Given the description of an element on the screen output the (x, y) to click on. 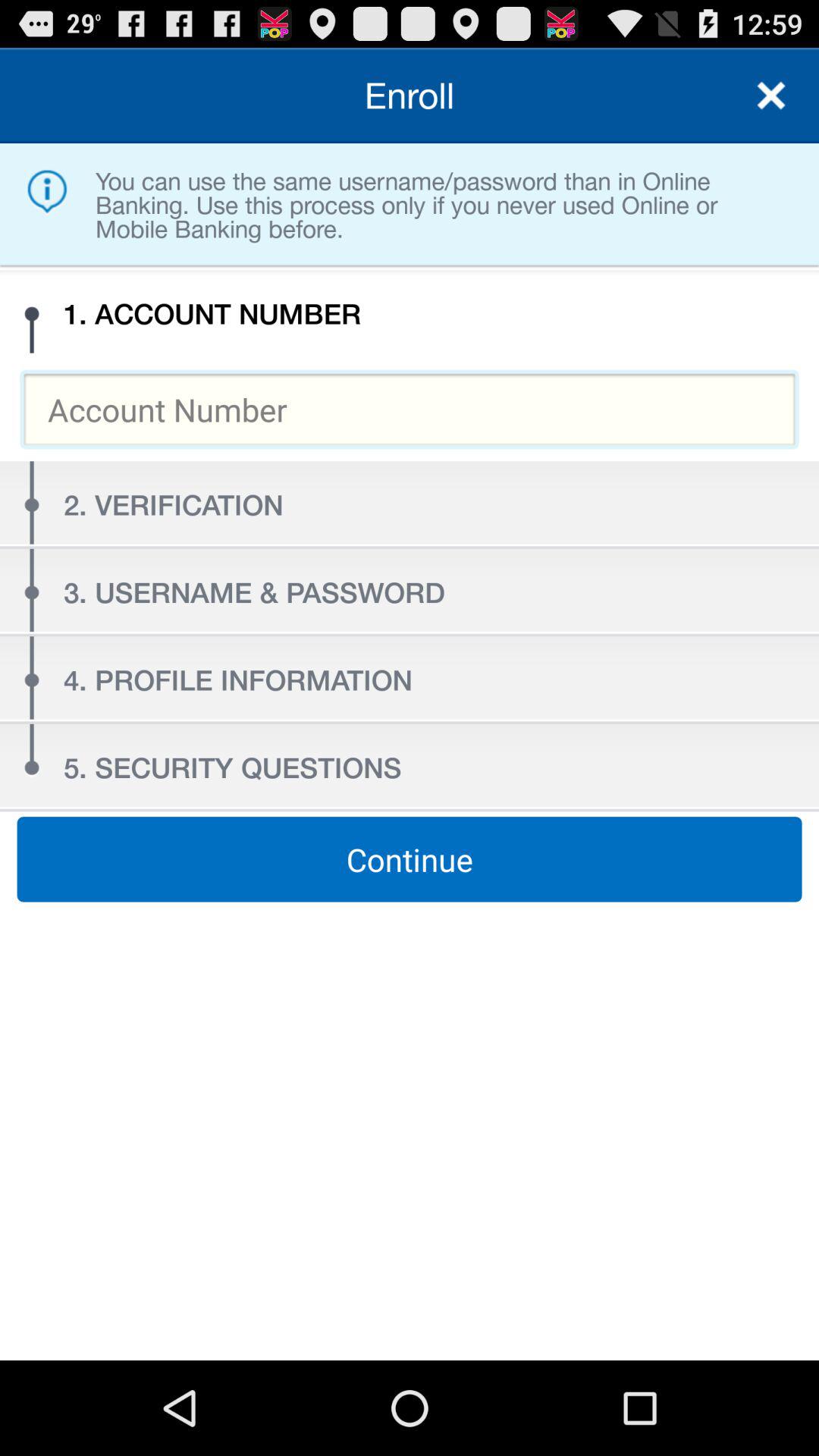
choose the item next to the enroll (771, 95)
